Given the description of an element on the screen output the (x, y) to click on. 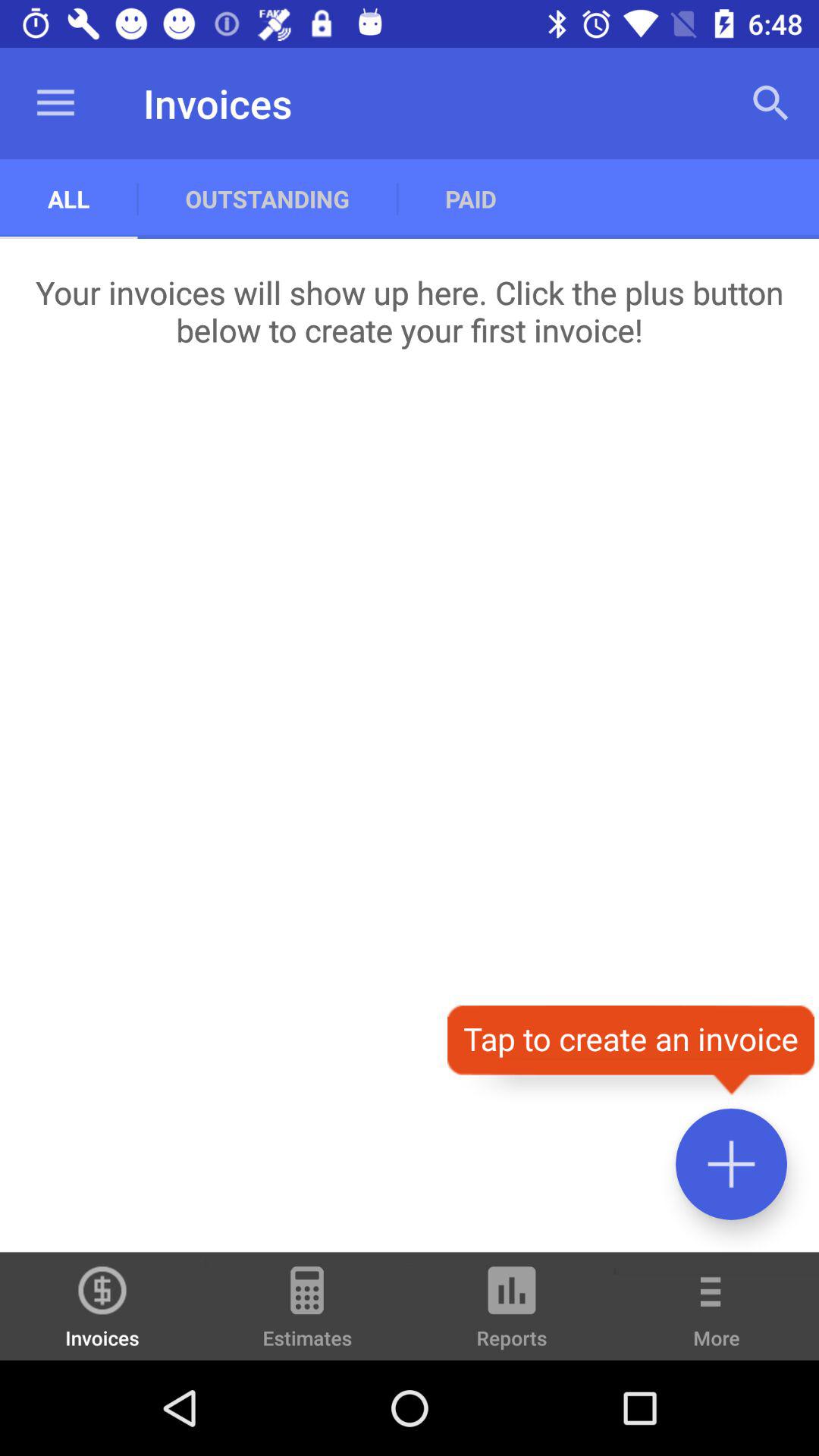
scroll to more item (716, 1317)
